Given the description of an element on the screen output the (x, y) to click on. 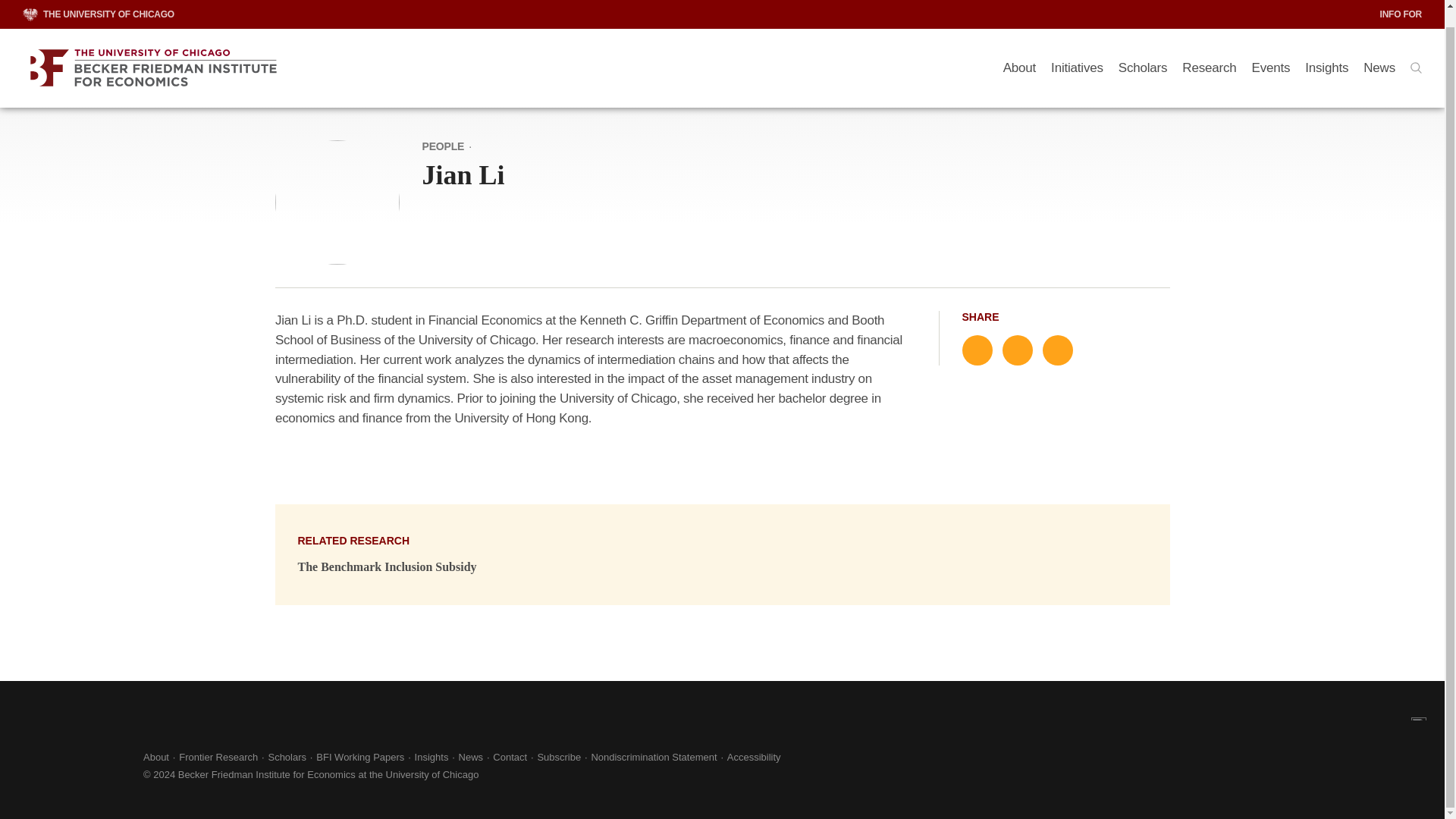
INFO FOR (1401, 1)
youtube (109, 764)
THE UNIVERSITY OF CHICAGO (98, 2)
facebook (69, 763)
About (1019, 51)
x-twitter (26, 764)
Initiatives (1077, 51)
